Given the description of an element on the screen output the (x, y) to click on. 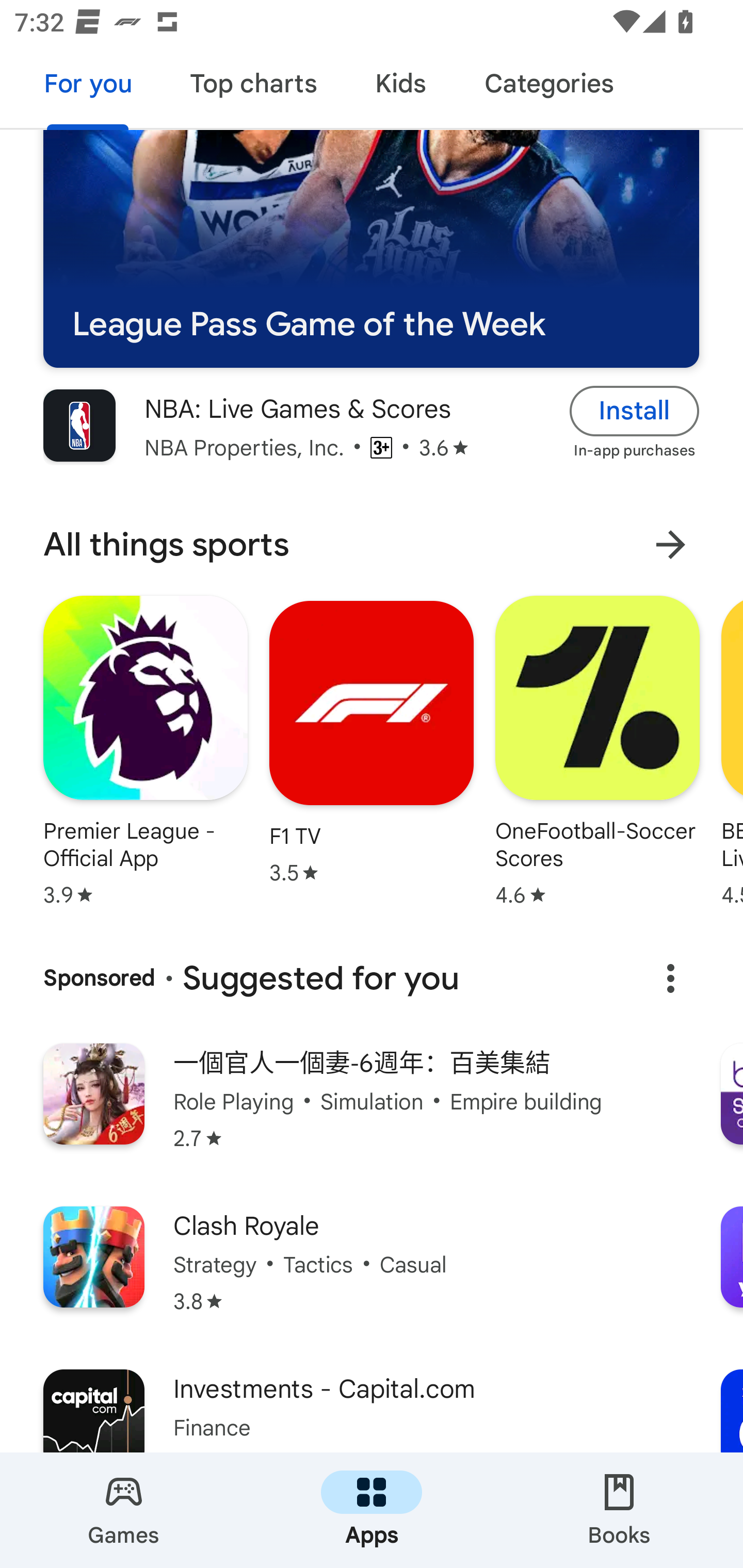
Top charts (253, 86)
Kids (400, 86)
Categories (548, 86)
League Pass Game of the Week (371, 249)
Install (634, 411)
More results for All things sports (670, 544)
Premier League - Official App
Star rating: 3.9
 (145, 750)
F1 TV
Star rating: 3.5
 (371, 742)
OneFootball-Soccer Scores
Star rating: 4.6
 (597, 750)
About this ad (670, 978)
Games (123, 1509)
Books (619, 1509)
